Given the description of an element on the screen output the (x, y) to click on. 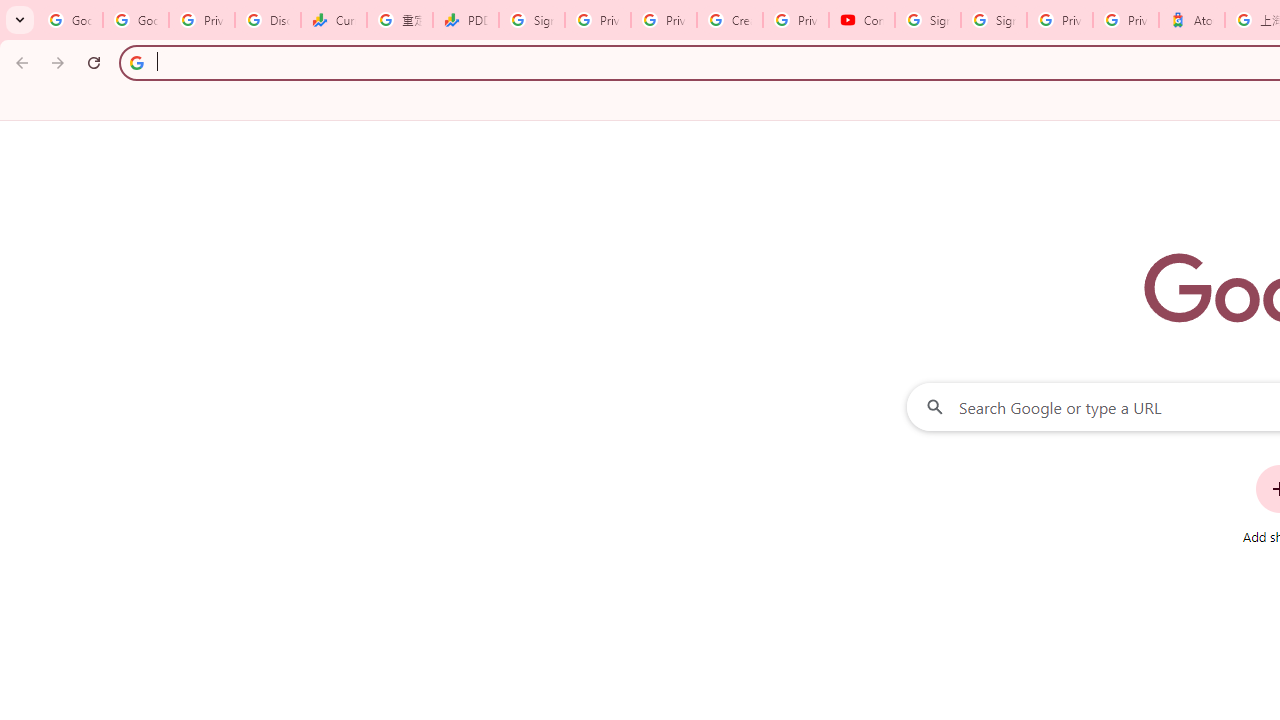
Google Workspace Admin Community (70, 20)
Create your Google Account (729, 20)
Privacy Checkup (664, 20)
Atour Hotel - Google hotels (1191, 20)
